Given the description of an element on the screen output the (x, y) to click on. 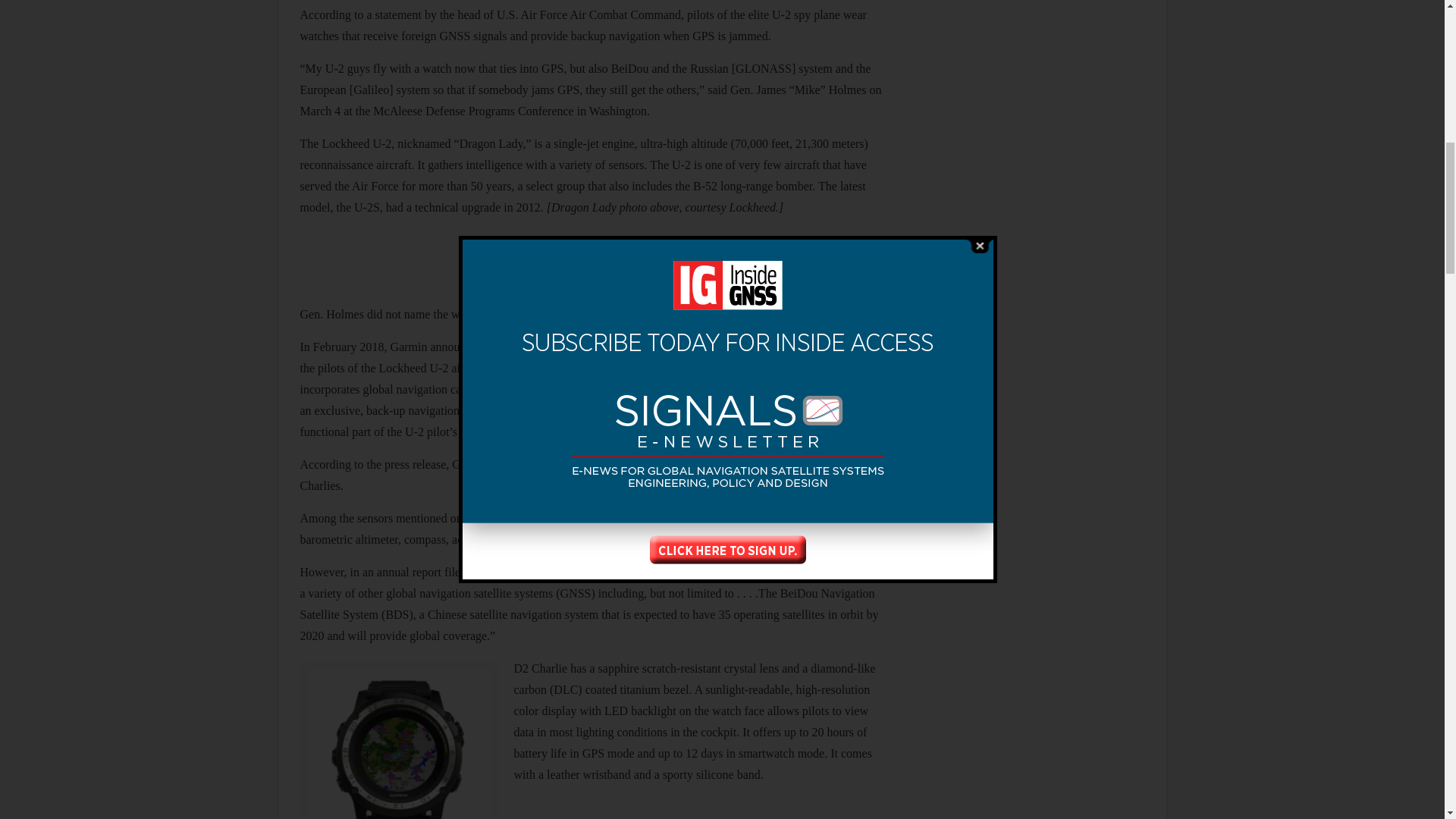
3rd party ad content (591, 263)
3rd party ad content (1030, 756)
3rd party ad content (1030, 376)
3rd party ad content (1030, 583)
3rd party ad content (1030, 171)
3rd party ad content (1030, 30)
